Given the description of an element on the screen output the (x, y) to click on. 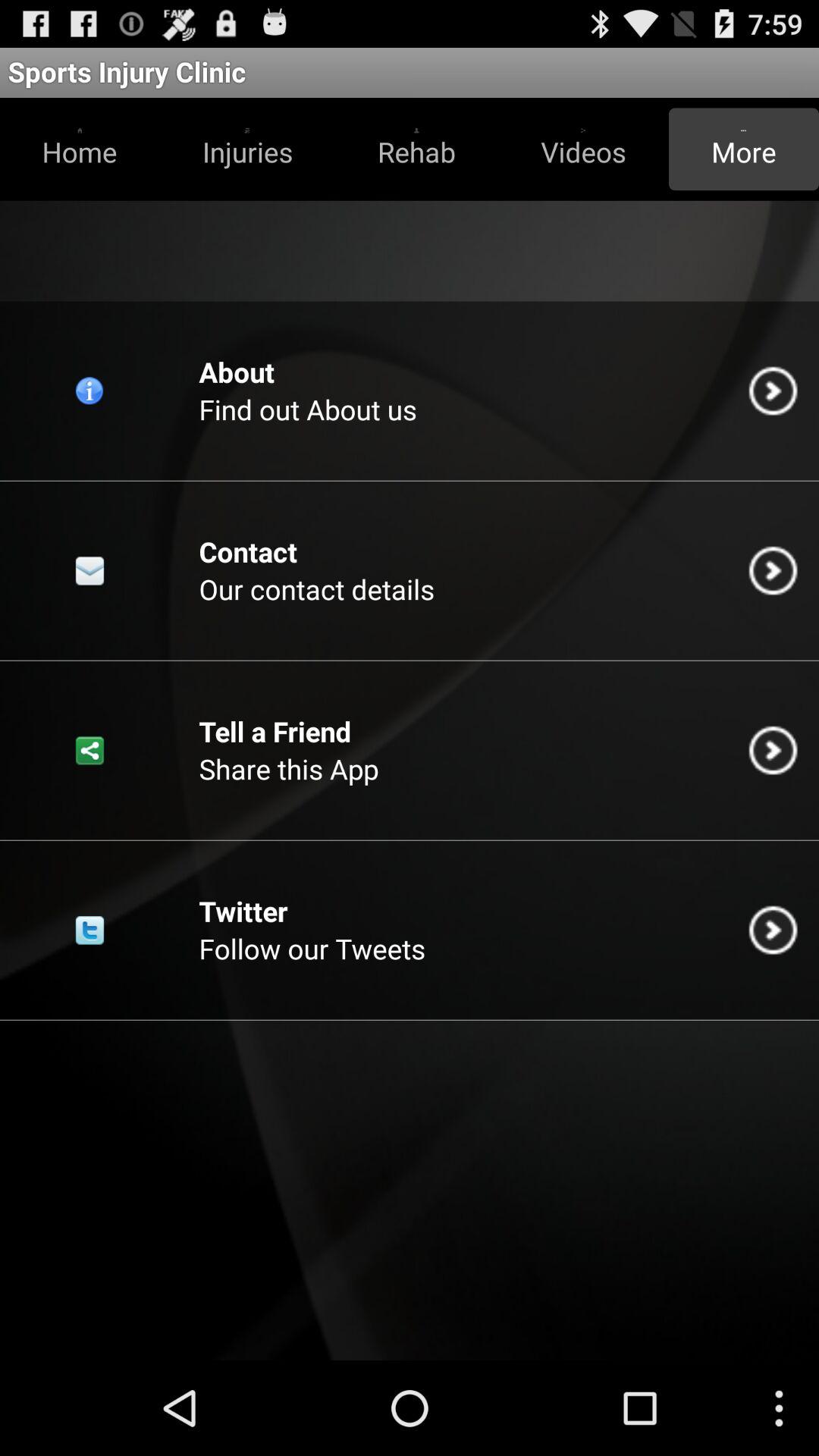
choose the item to the right of find out about icon (773, 390)
